Given the description of an element on the screen output the (x, y) to click on. 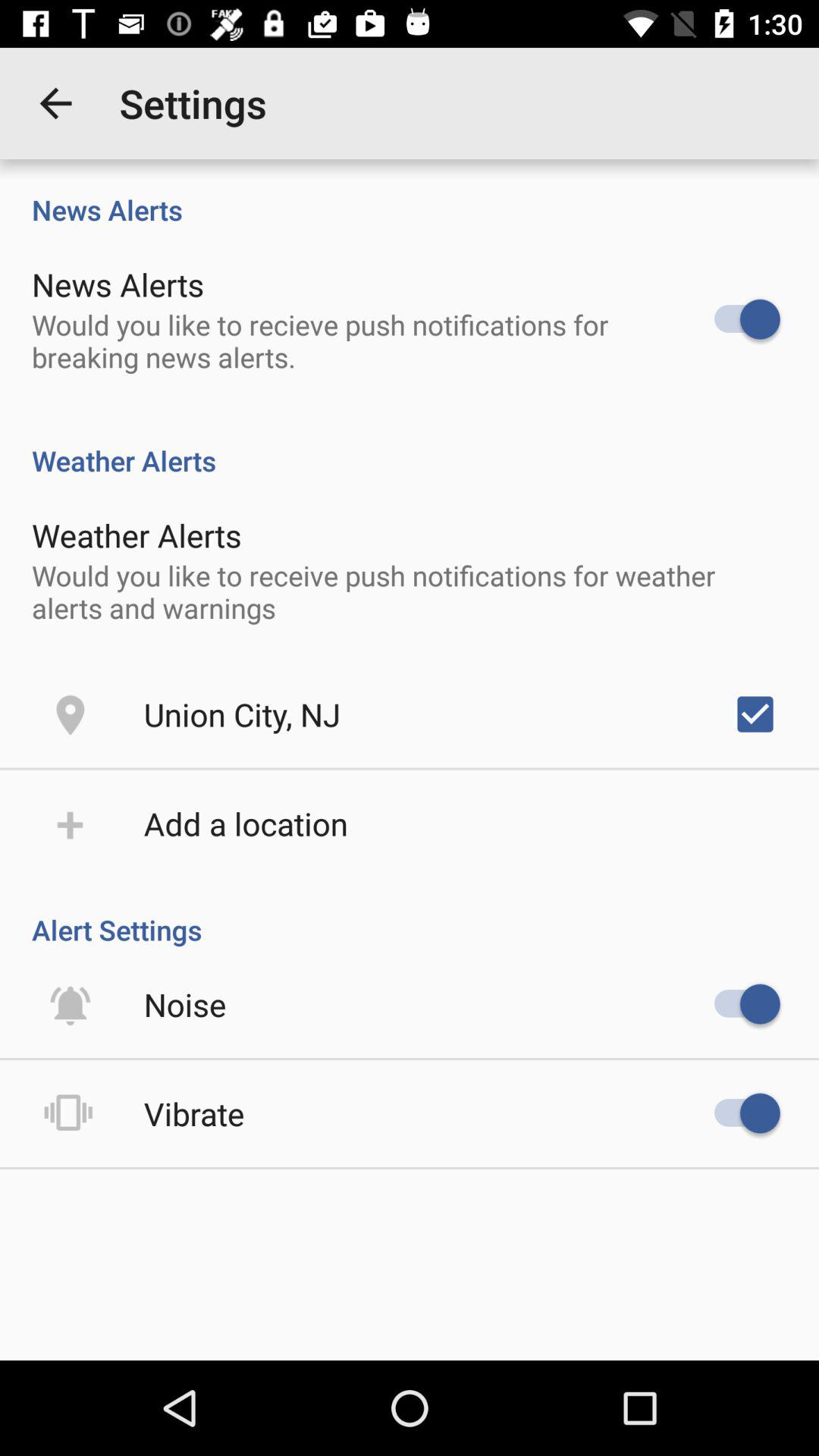
turn on the app next to settings  app (55, 103)
